Given the description of an element on the screen output the (x, y) to click on. 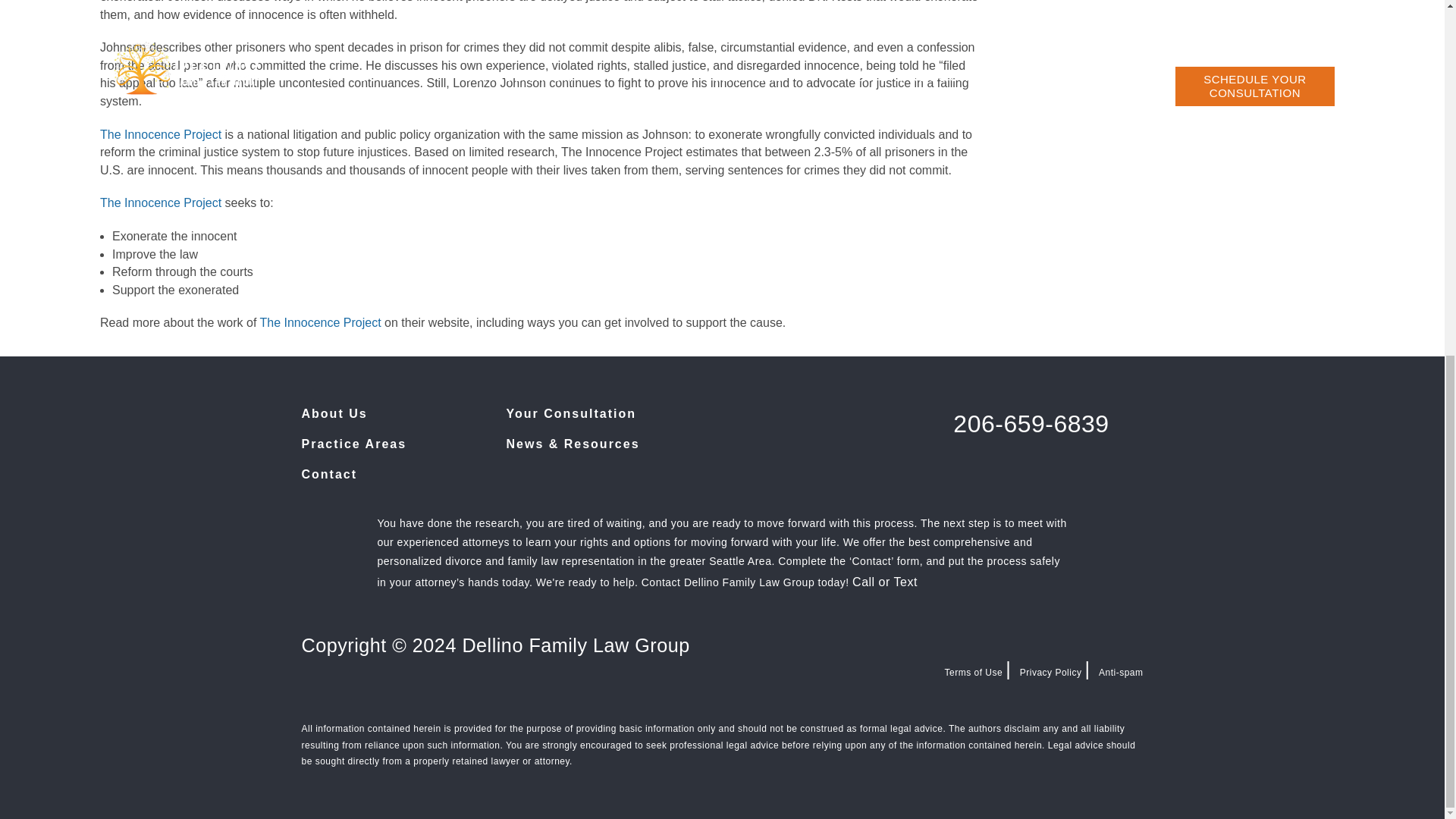
The Innocence Project  (162, 202)
The Innocence Project (160, 133)
The Innocence Project (319, 322)
